Given the description of an element on the screen output the (x, y) to click on. 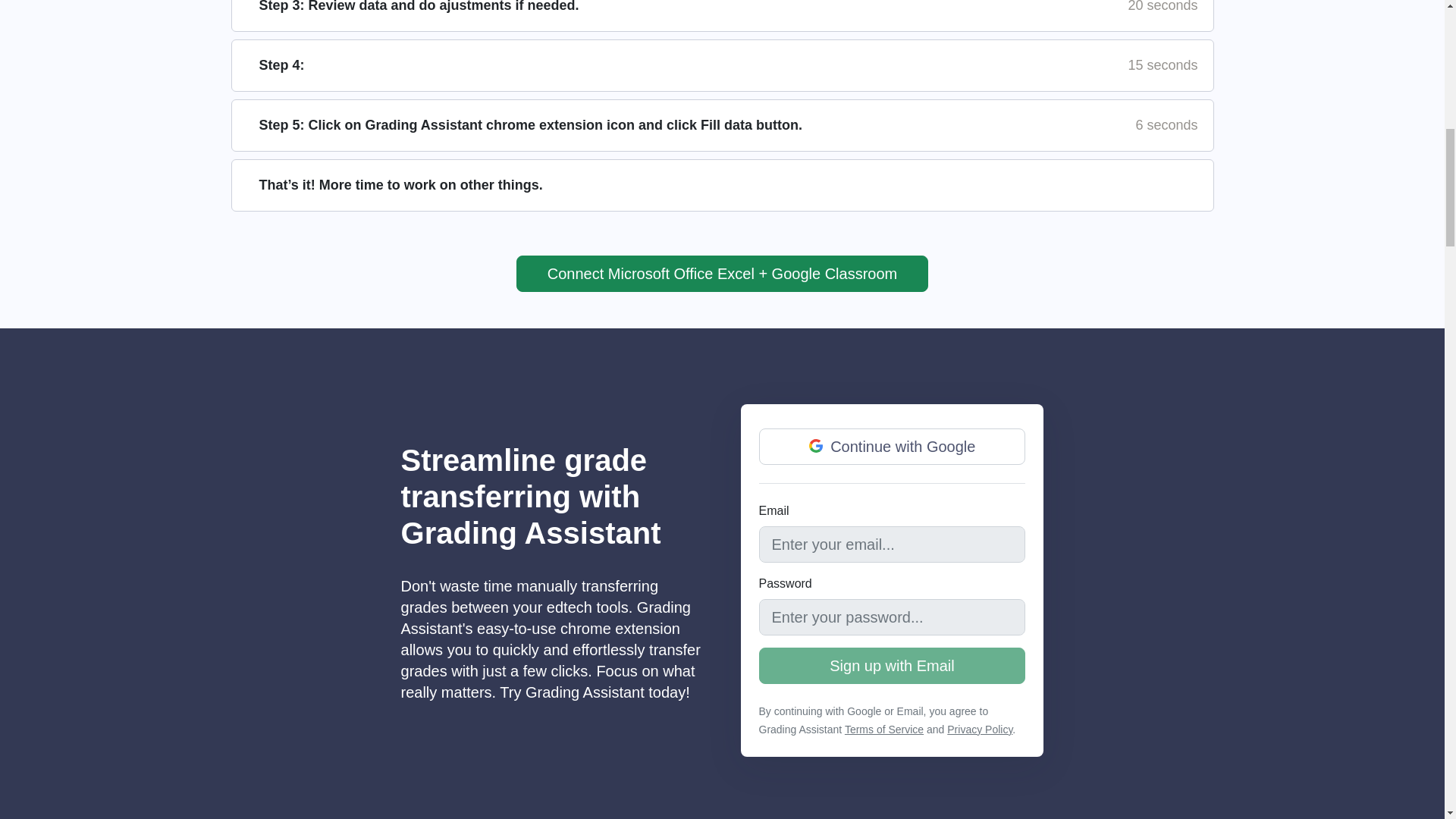
Terms of Service (883, 729)
Privacy Policy (979, 729)
Continue with Google (891, 446)
Sign up with Email (891, 665)
Continue with Google (815, 445)
